Given the description of an element on the screen output the (x, y) to click on. 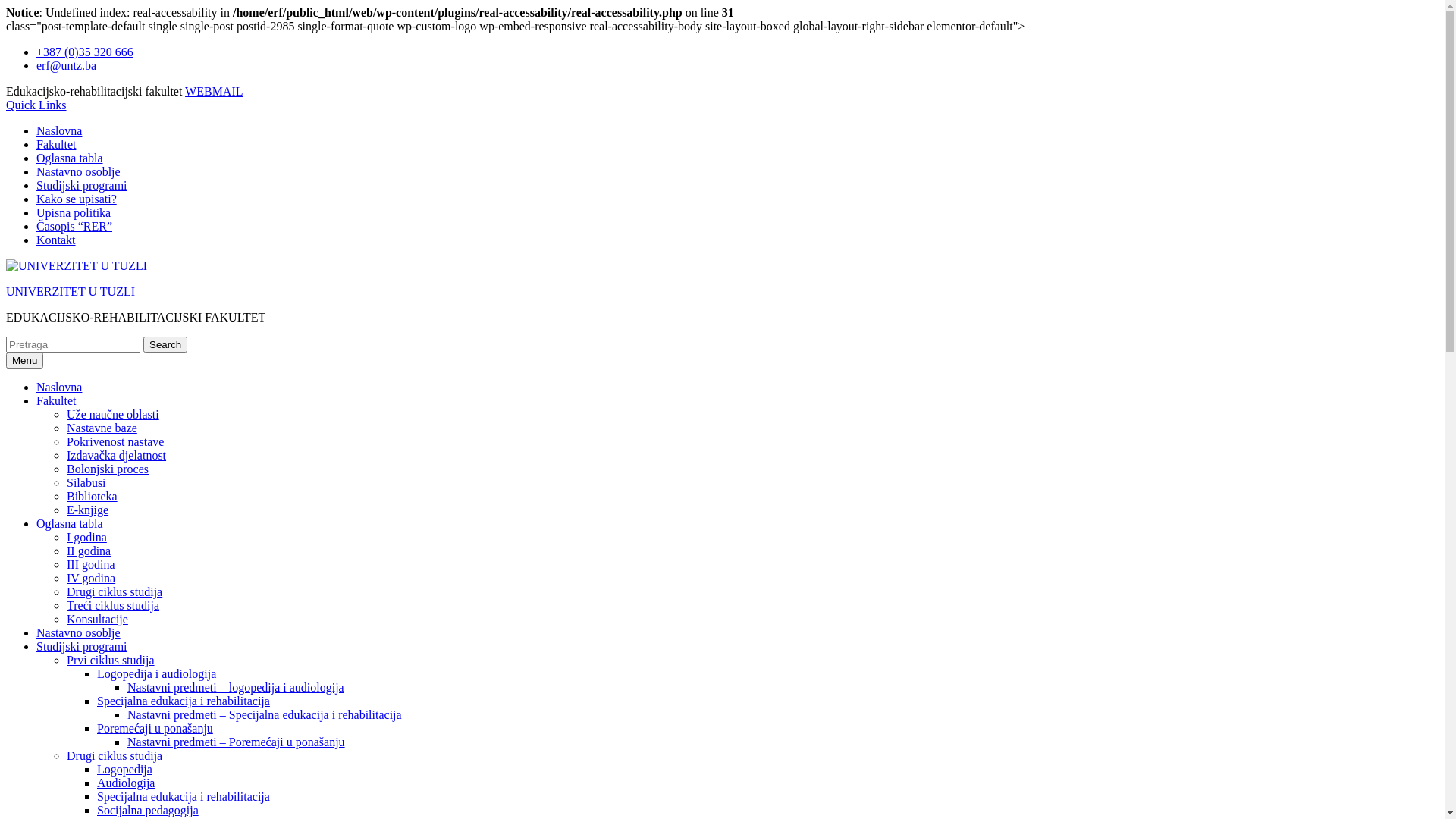
Nastavne baze Element type: text (101, 427)
Menu Element type: text (24, 360)
I godina Element type: text (86, 536)
Fakultet Element type: text (55, 144)
WEBMAIL Element type: text (213, 90)
Naslovna Element type: text (58, 386)
Oglasna tabla Element type: text (69, 523)
Drugi ciklus studija Element type: text (114, 591)
II godina Element type: text (88, 550)
Skip to content Element type: text (5, 44)
Studijski programi Element type: text (81, 184)
IV godina Element type: text (90, 577)
Studijski programi Element type: text (81, 646)
Naslovna Element type: text (58, 130)
Prvi ciklus studija Element type: text (110, 659)
Biblioteka Element type: text (91, 495)
Specijalna edukacija i rehabilitacija Element type: text (183, 700)
Konsultacije Element type: text (97, 618)
Pokrivenost nastave Element type: text (114, 441)
Nastavno osoblje Element type: text (78, 632)
III godina Element type: text (90, 564)
erf@untz.ba Element type: text (66, 65)
Oglasna tabla Element type: text (69, 157)
Upisna politika Element type: text (73, 212)
Quick Links Element type: text (36, 104)
E-knjige Element type: text (87, 509)
Search for: Element type: hover (73, 344)
+387 (0)35 320 666 Element type: text (84, 51)
Kako se upisati? Element type: text (76, 198)
Kontakt Element type: text (55, 239)
Fakultet Element type: text (55, 400)
Audiologija Element type: text (125, 782)
Socijalna pedagogija Element type: text (147, 809)
Search Element type: text (165, 344)
Nastavno osoblje Element type: text (78, 171)
UNIVERZITET U TUZLI Element type: text (70, 291)
Logopedija Element type: text (124, 768)
Specijalna edukacija i rehabilitacija Element type: text (183, 796)
Logopedija i audiologija Element type: text (156, 673)
Drugi ciklus studija Element type: text (114, 755)
Silabusi Element type: text (86, 482)
Bolonjski proces Element type: text (107, 468)
